Given the description of an element on the screen output the (x, y) to click on. 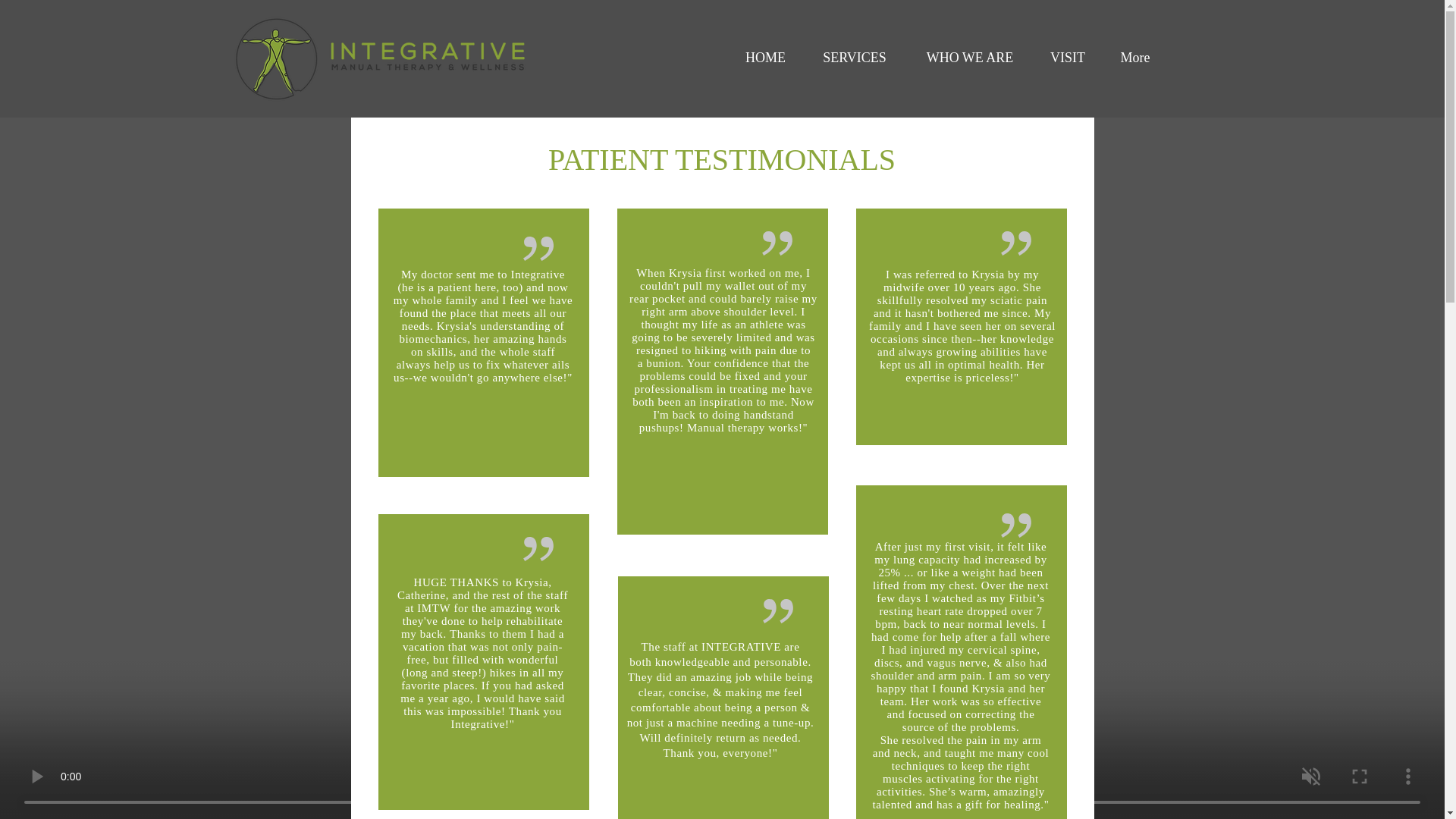
HOME (765, 57)
SERVICES (854, 57)
WHO WE ARE (969, 57)
VISIT (1067, 57)
